Given the description of an element on the screen output the (x, y) to click on. 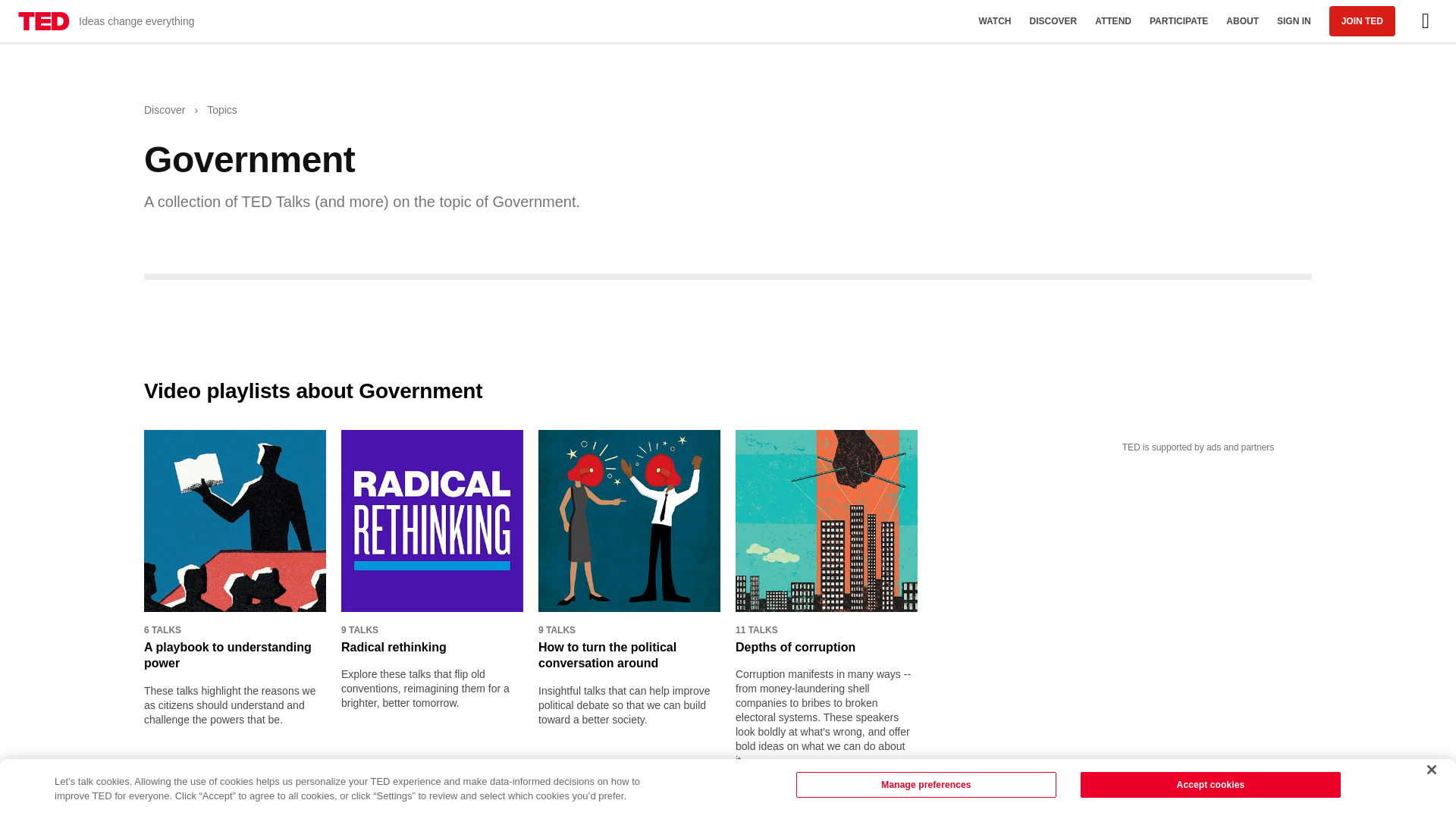
WATCH (994, 21)
ATTEND (1113, 21)
Ideas change everything (106, 21)
PARTICIPATE (1178, 21)
ABOUT (1242, 21)
JOIN TED (1361, 20)
SIGN IN (1294, 21)
Topics (221, 110)
See all playlists on Government (224, 800)
DISCOVER (1053, 21)
